Given the description of an element on the screen output the (x, y) to click on. 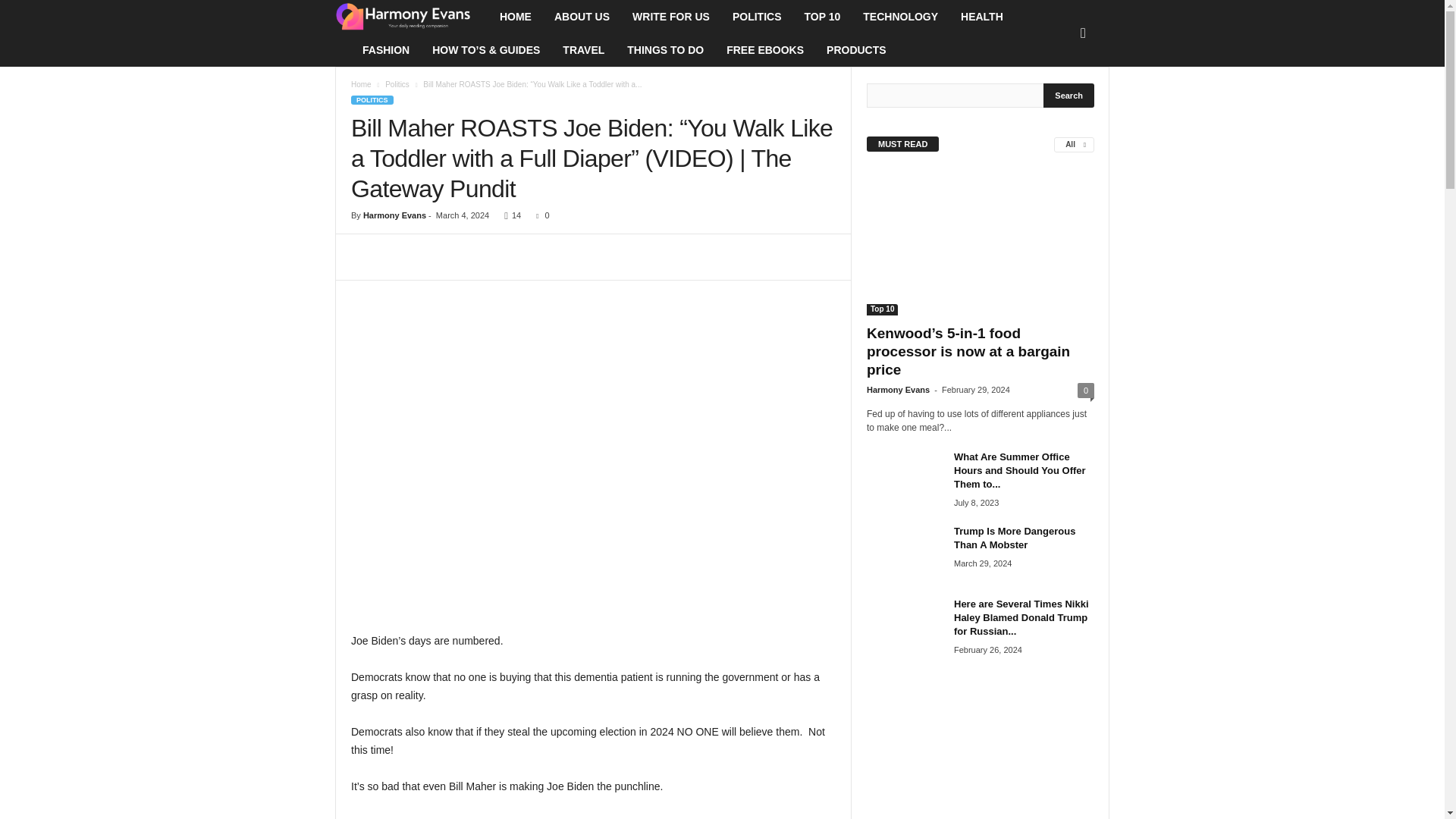
TRAVEL (583, 49)
FREE EBOOKS (764, 49)
THINGS TO DO (664, 49)
HEALTH (981, 16)
TECHNOLOGY (900, 16)
POLITICS (756, 16)
WRITE FOR US (670, 16)
TOP 10 (822, 16)
HOME (515, 16)
FASHION (385, 49)
Search (1068, 95)
Harmony Evans (410, 16)
ABOUT US (582, 16)
PRODUCTS (856, 49)
View all posts in Politics (397, 84)
